Given the description of an element on the screen output the (x, y) to click on. 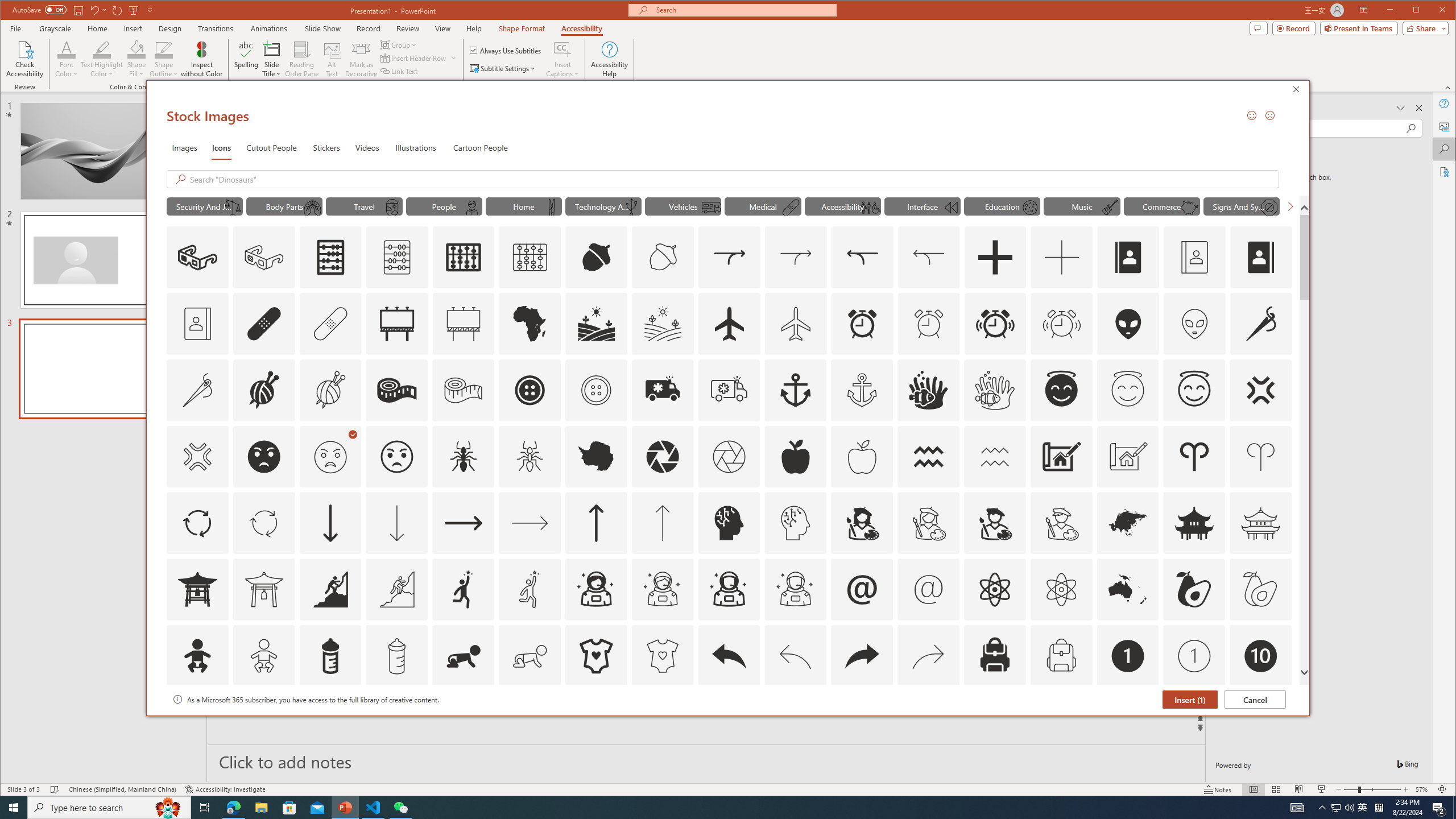
AutomationID: Icons_BabyCrawling_M (529, 655)
AutomationID: Icons_Peg_M (551, 207)
Slide Title (271, 59)
"Travel" Icons. (364, 206)
AutomationID: Icons_ArrowUp (595, 522)
AutomationID: Icons_ArrowRight_M (529, 522)
AutomationID: Icons_Aspiration_M (397, 589)
AutomationID: Icons_Badge4 (529, 721)
